Given the description of an element on the screen output the (x, y) to click on. 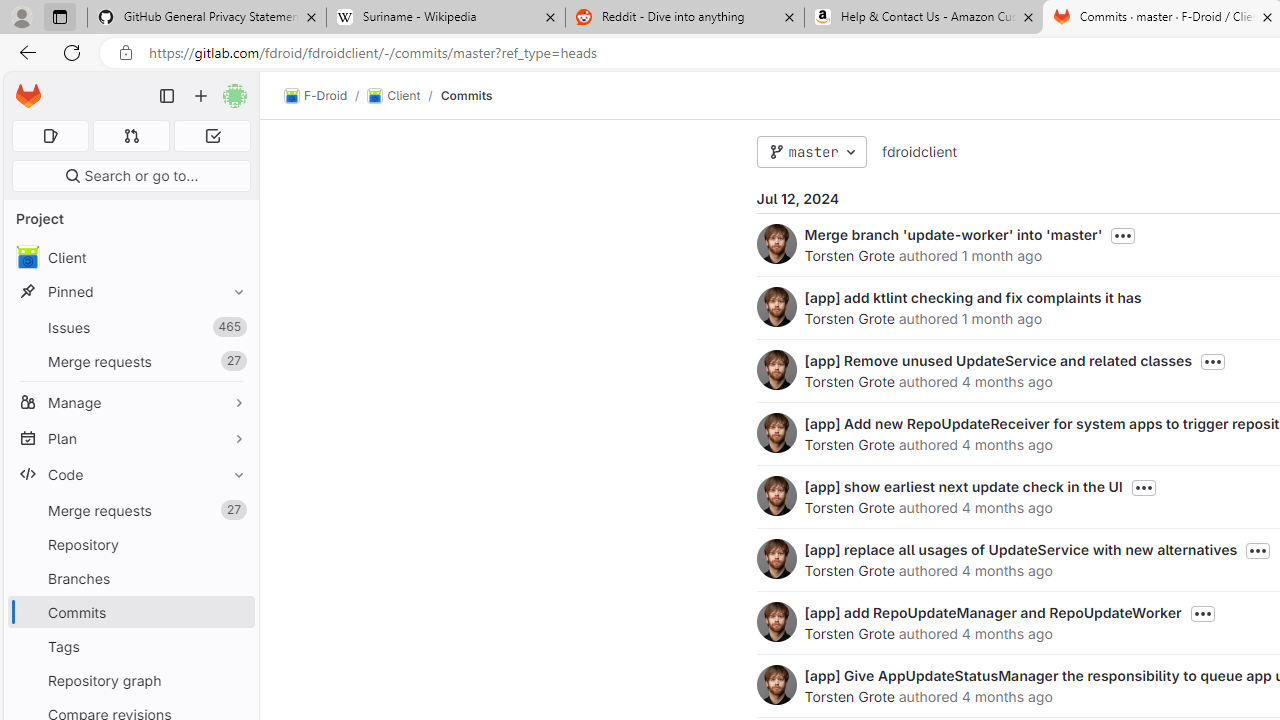
Client (130, 257)
Branches (130, 578)
GitHub General Privacy Statement - GitHub Docs (207, 17)
